Given the description of an element on the screen output the (x, y) to click on. 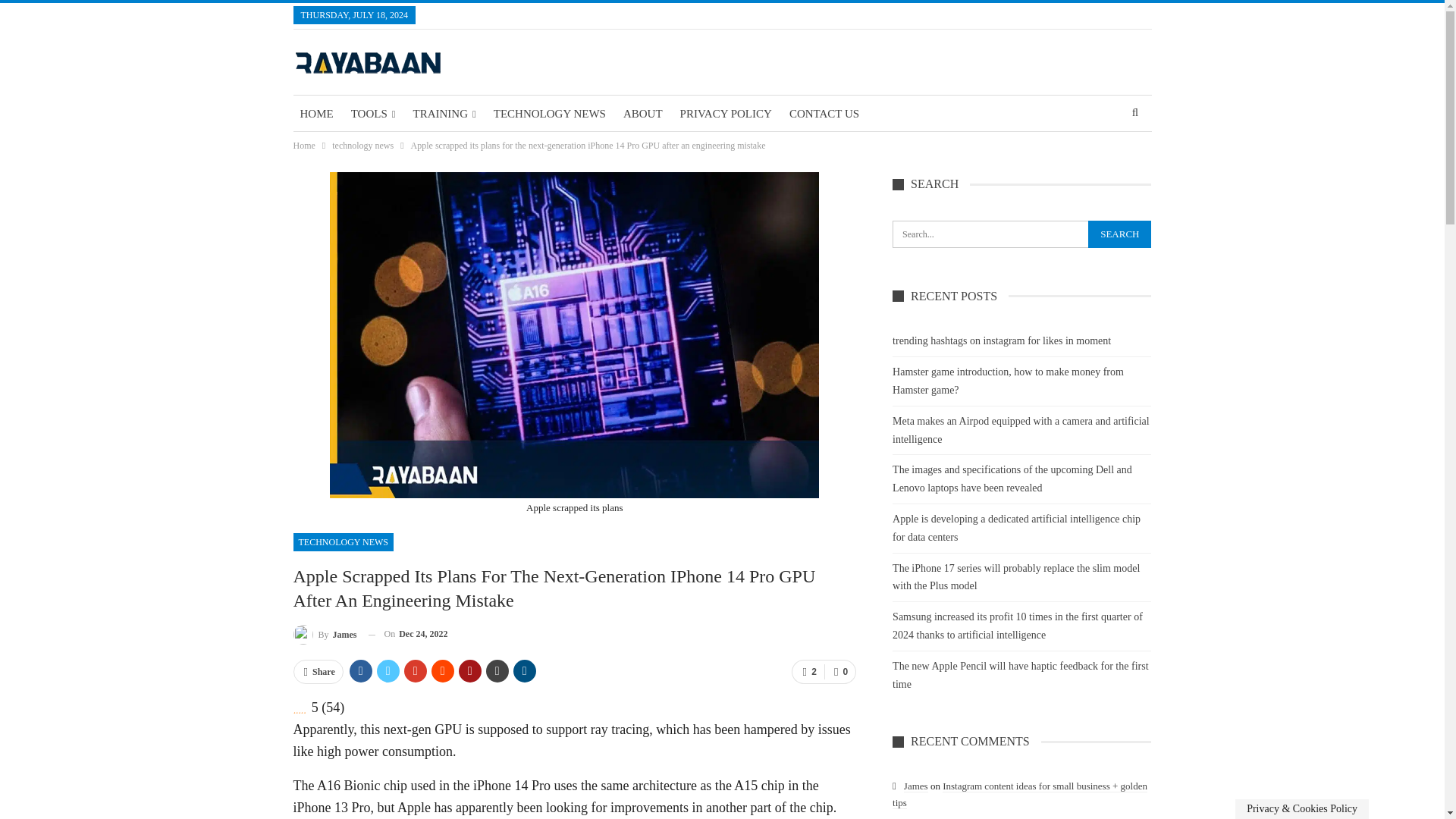
0 (840, 671)
Search (1119, 234)
Browse Author Articles (324, 634)
Search (1119, 234)
TECHNOLOGY NEWS (549, 113)
HOME (315, 113)
TRAINING (443, 113)
TOOLS (373, 113)
TECHNOLOGY NEWS (342, 542)
PRIVACY POLICY (725, 113)
CONTACT US (824, 113)
ABOUT (642, 113)
technology news (362, 145)
Home (303, 145)
By James (324, 634)
